Given the description of an element on the screen output the (x, y) to click on. 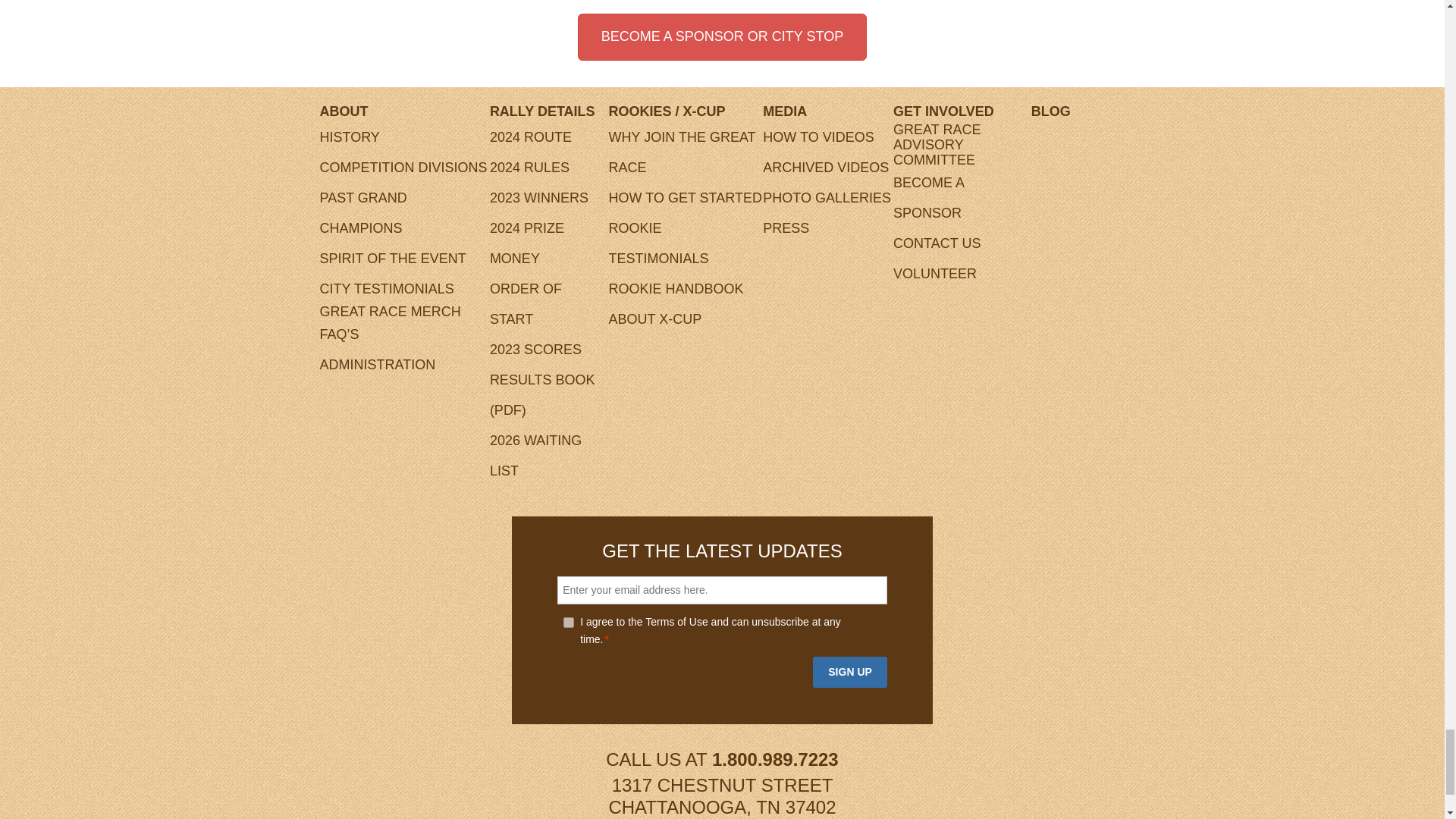
Rules and Regulations (529, 167)
Past Grand Champions (363, 212)
